Given the description of an element on the screen output the (x, y) to click on. 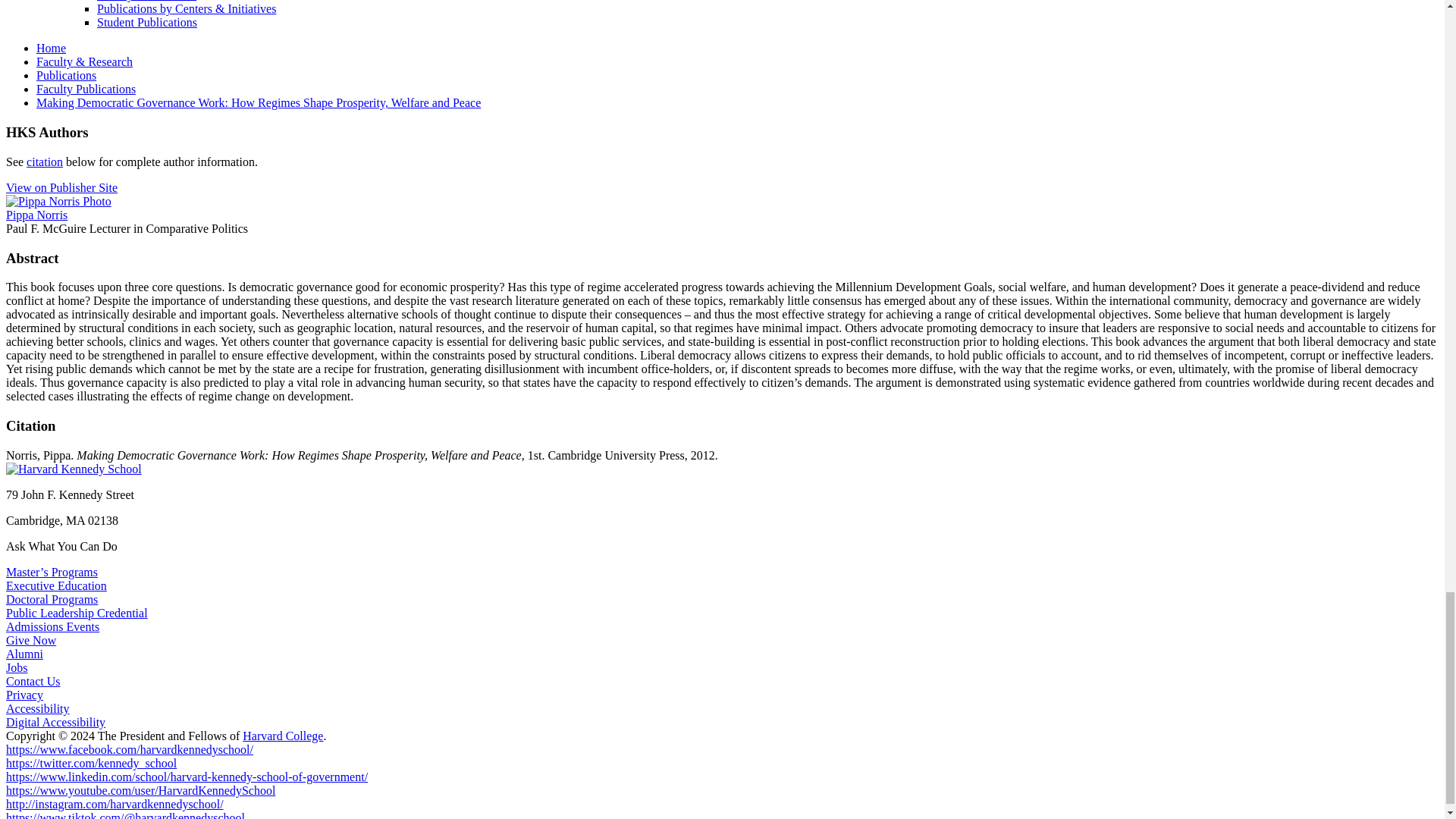
Harvard Kennedy School (73, 468)
Student Publications at HKS (146, 21)
